Given the description of an element on the screen output the (x, y) to click on. 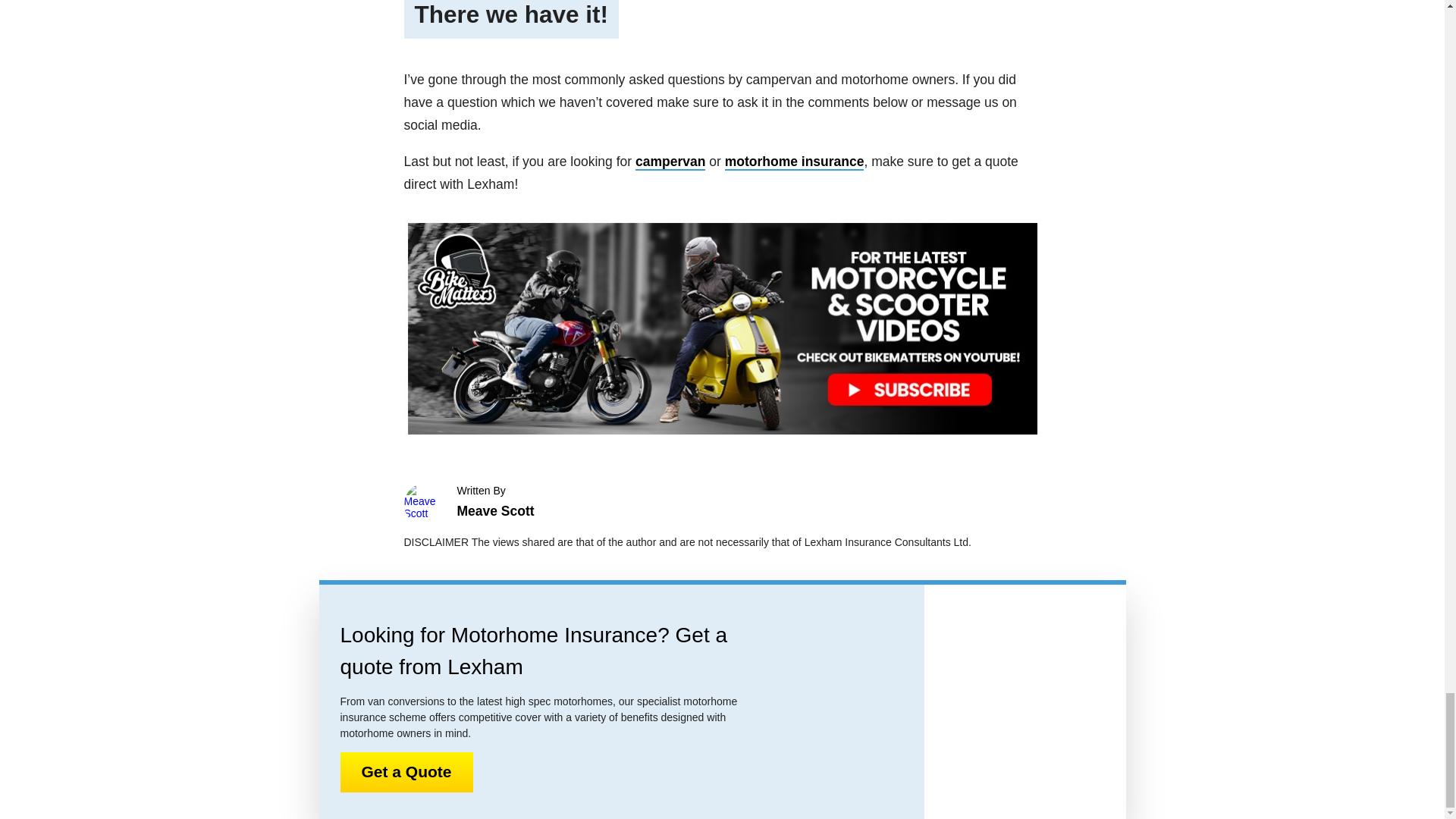
Motorhome Insurance (794, 161)
Campervan Insurance (669, 161)
